Given the description of an element on the screen output the (x, y) to click on. 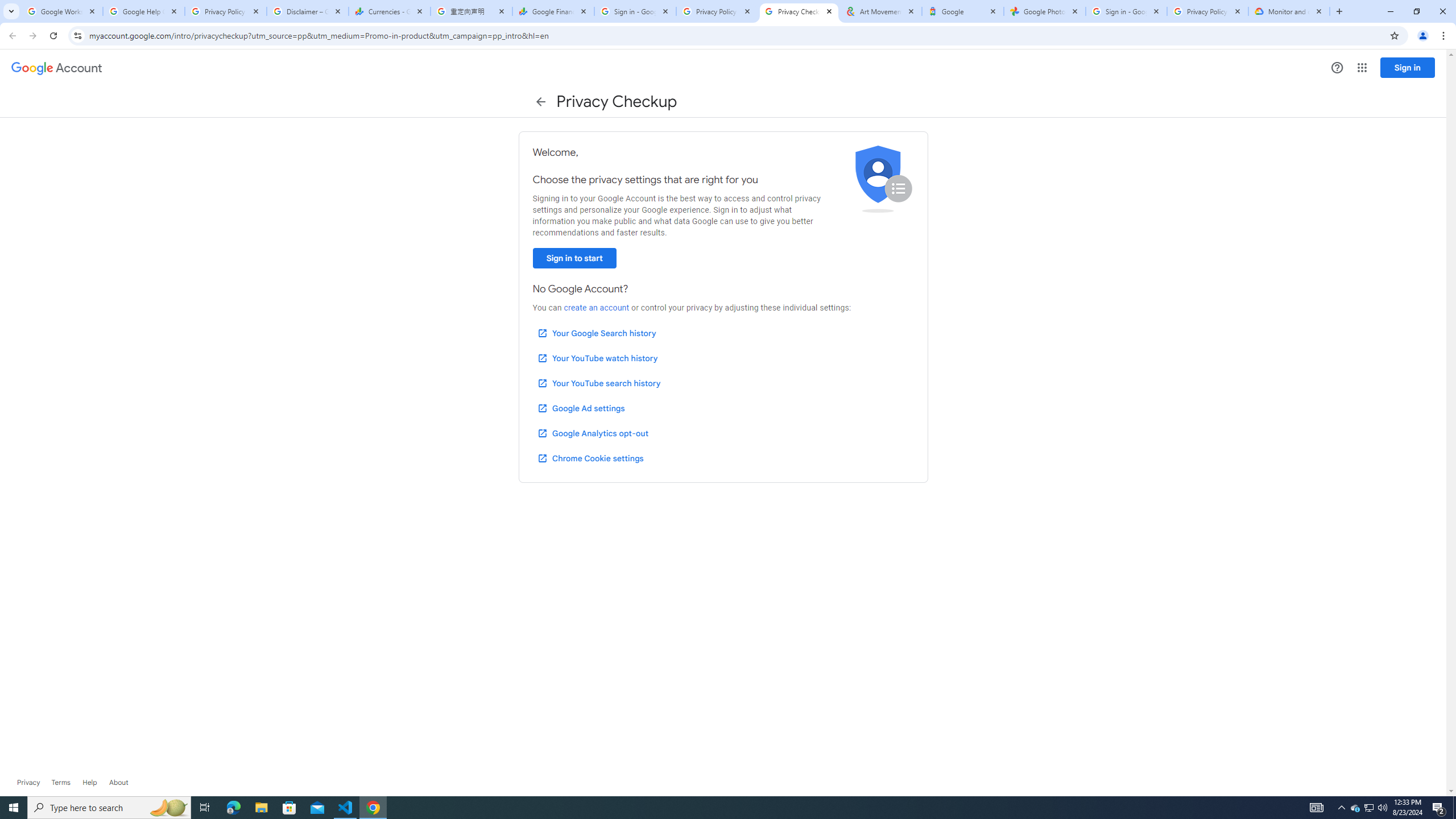
Your Google Search history (596, 332)
Sign in - Google Accounts (635, 11)
Sign in to start (573, 258)
create an account (595, 307)
